Given the description of an element on the screen output the (x, y) to click on. 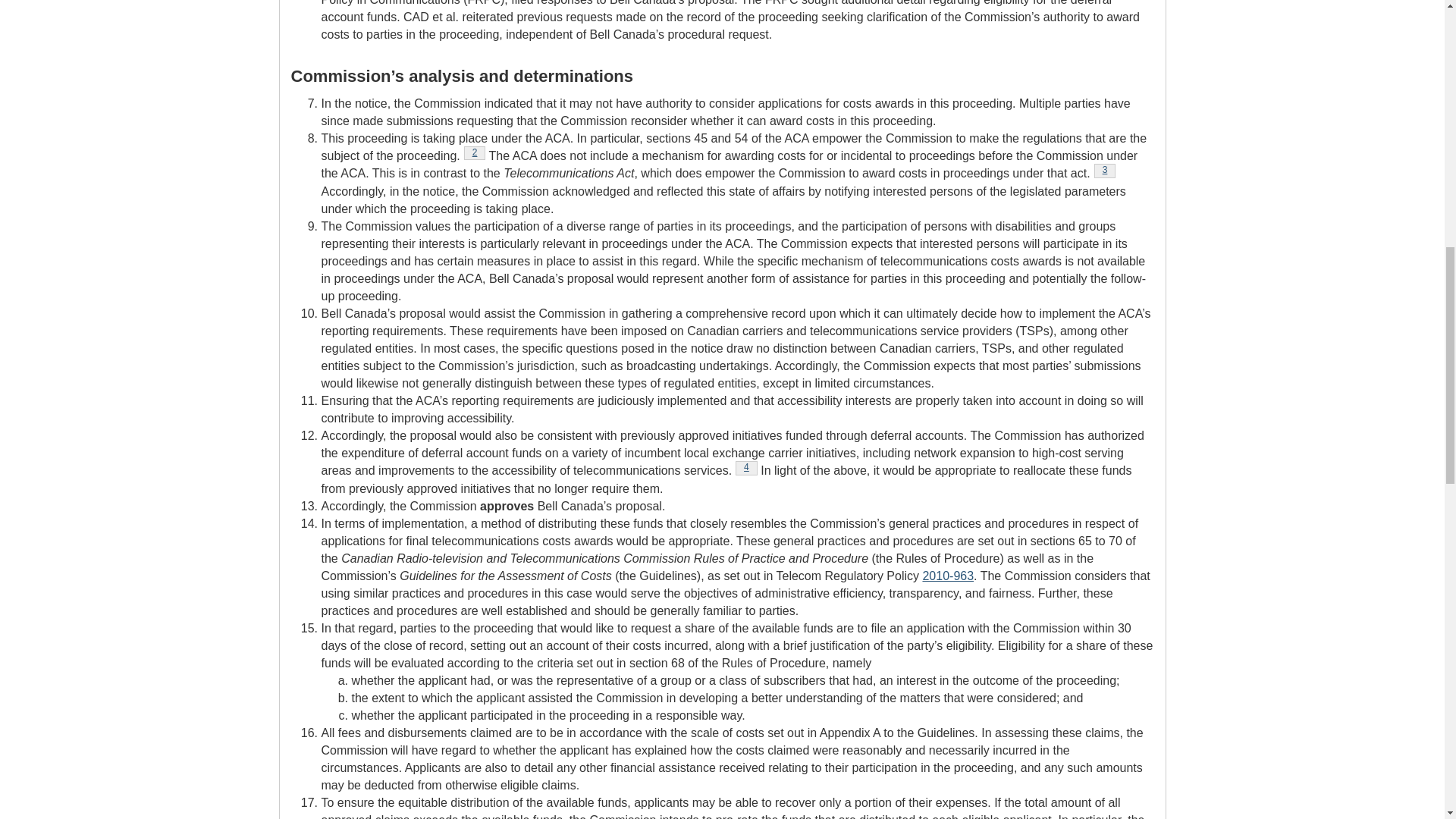
2010-963 (1105, 170)
